Given the description of an element on the screen output the (x, y) to click on. 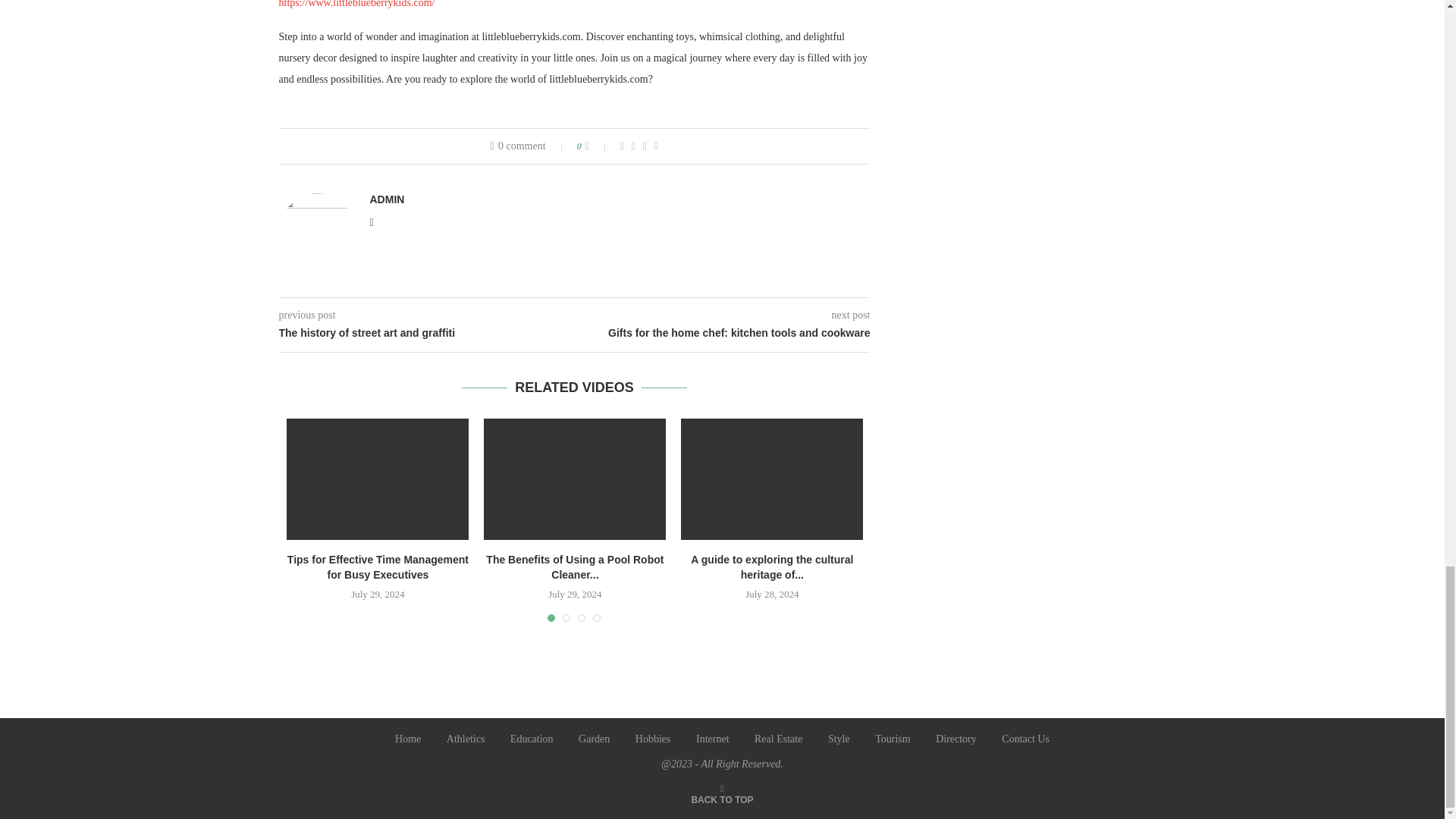
Author admin (386, 199)
The Benefits of Using a Pool Robot Cleaner for Maintenance (574, 478)
Tips for Effective Time Management for Busy Executives (377, 478)
A guide to exploring the cultural heritage of Qatar (772, 478)
Like (597, 146)
